Given the description of an element on the screen output the (x, y) to click on. 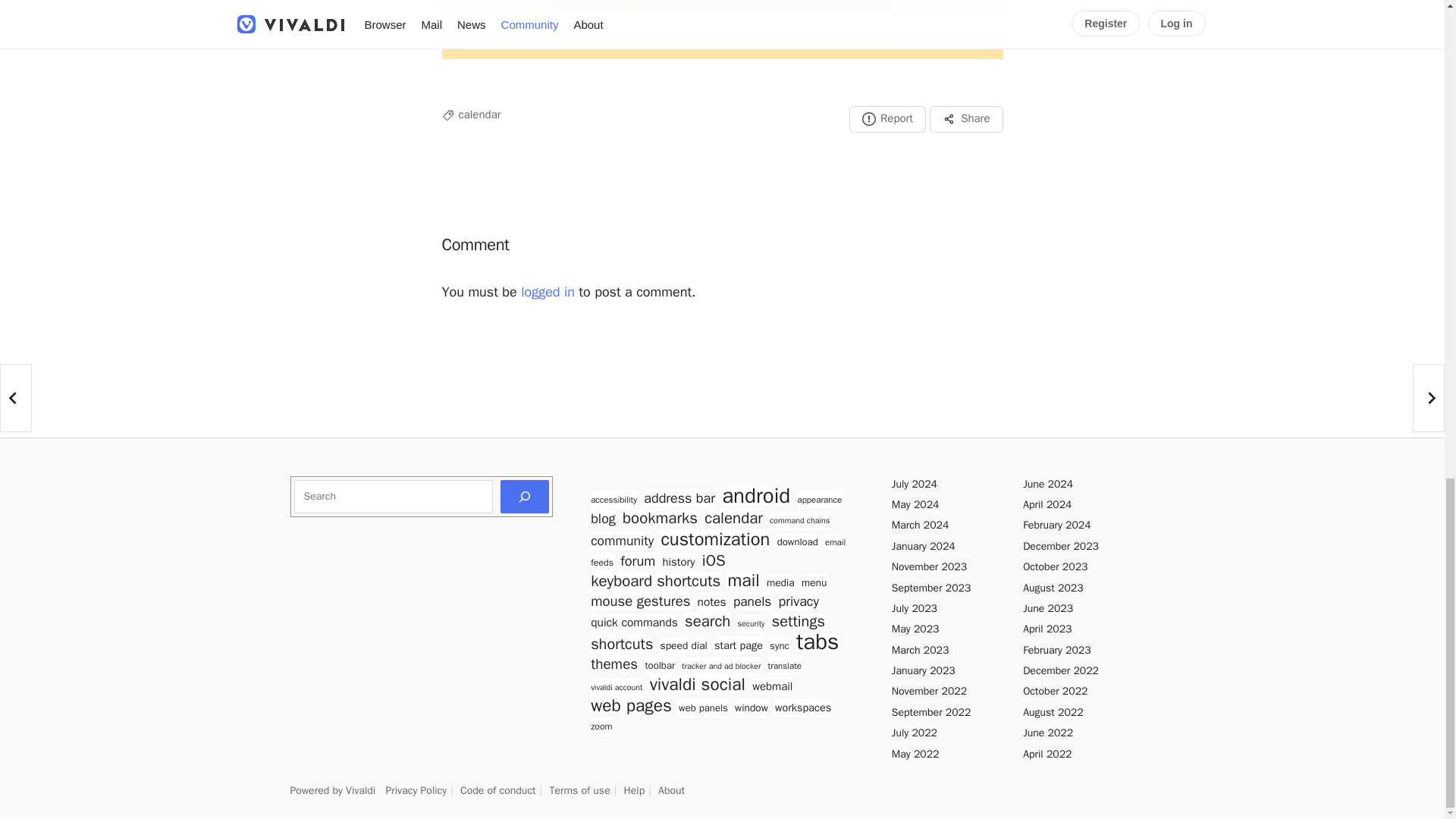
calendar (479, 114)
Report (887, 118)
Share (966, 118)
